Given the description of an element on the screen output the (x, y) to click on. 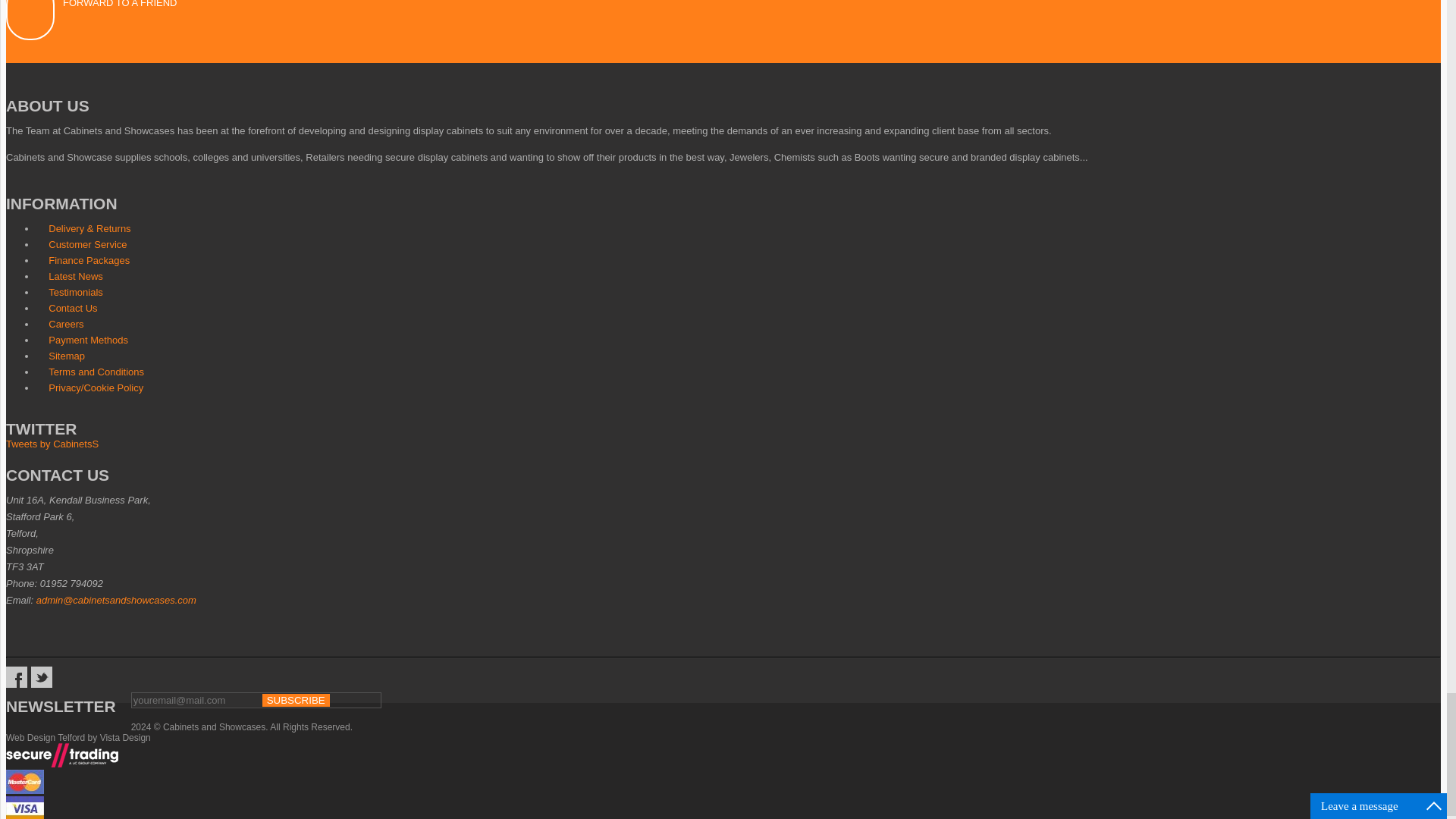
Web Design Telford (44, 737)
Secured By Secure Trading (61, 754)
Vista Design (125, 737)
We accept MasterCard (24, 781)
